Given the description of an element on the screen output the (x, y) to click on. 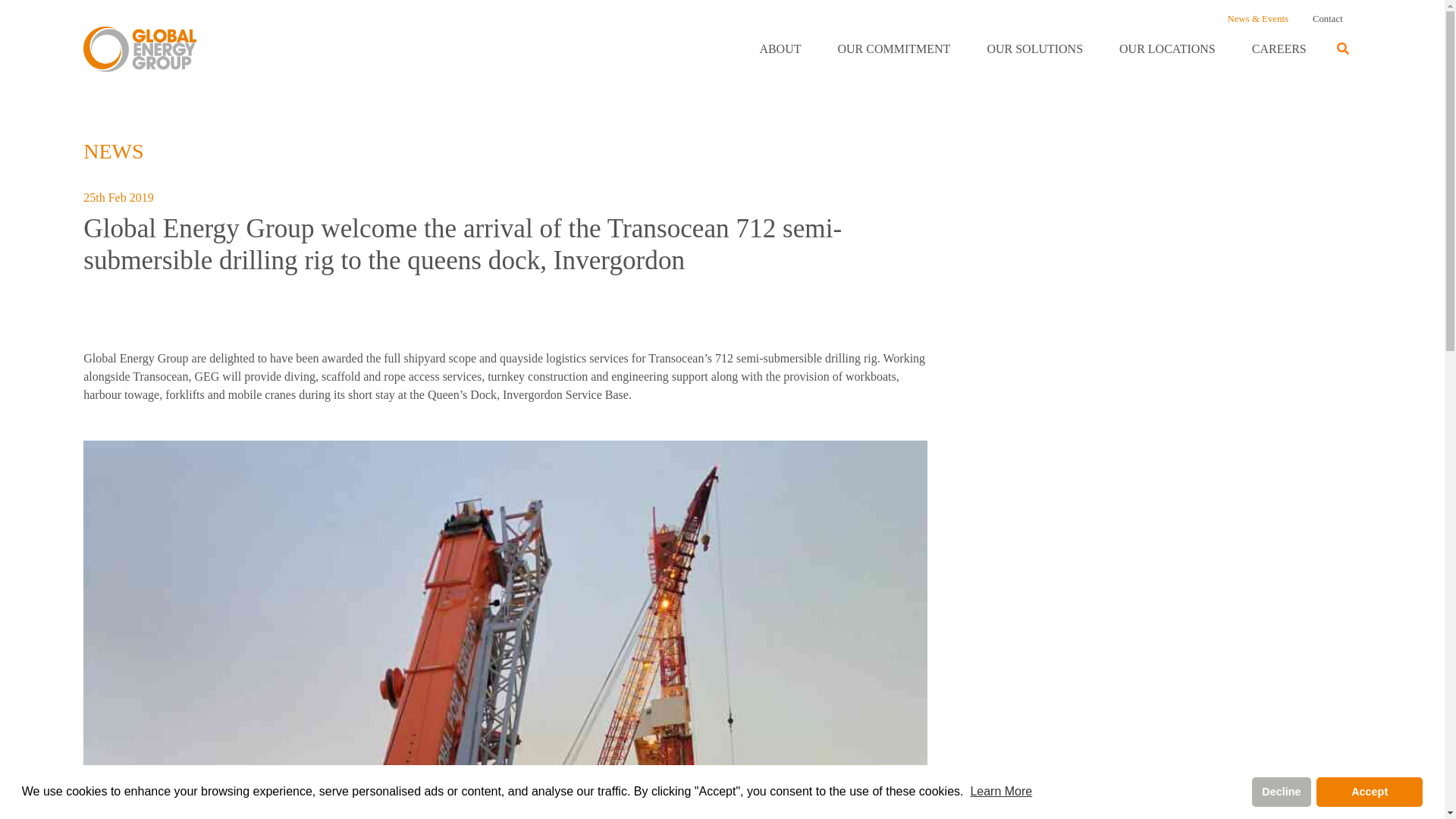
CAREERS (1279, 48)
OUR COMMITMENT (893, 48)
OUR LOCATIONS (1167, 48)
ABOUT (779, 48)
Contact (1327, 19)
Decline (1281, 791)
Learn More (1000, 790)
Accept (1369, 791)
OUR SOLUTIONS (1034, 48)
